Given the description of an element on the screen output the (x, y) to click on. 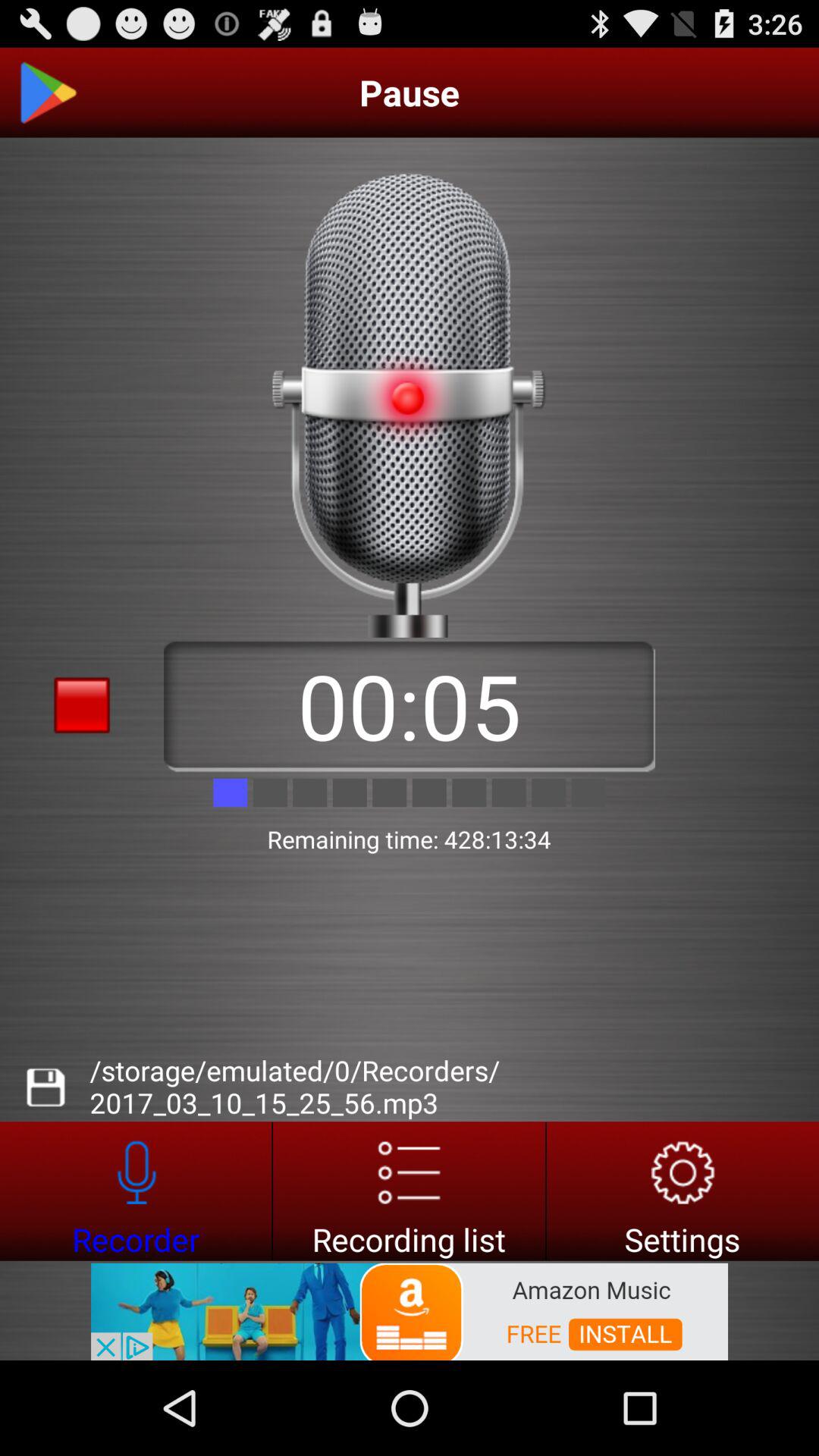
select settings option (682, 1190)
